Given the description of an element on the screen output the (x, y) to click on. 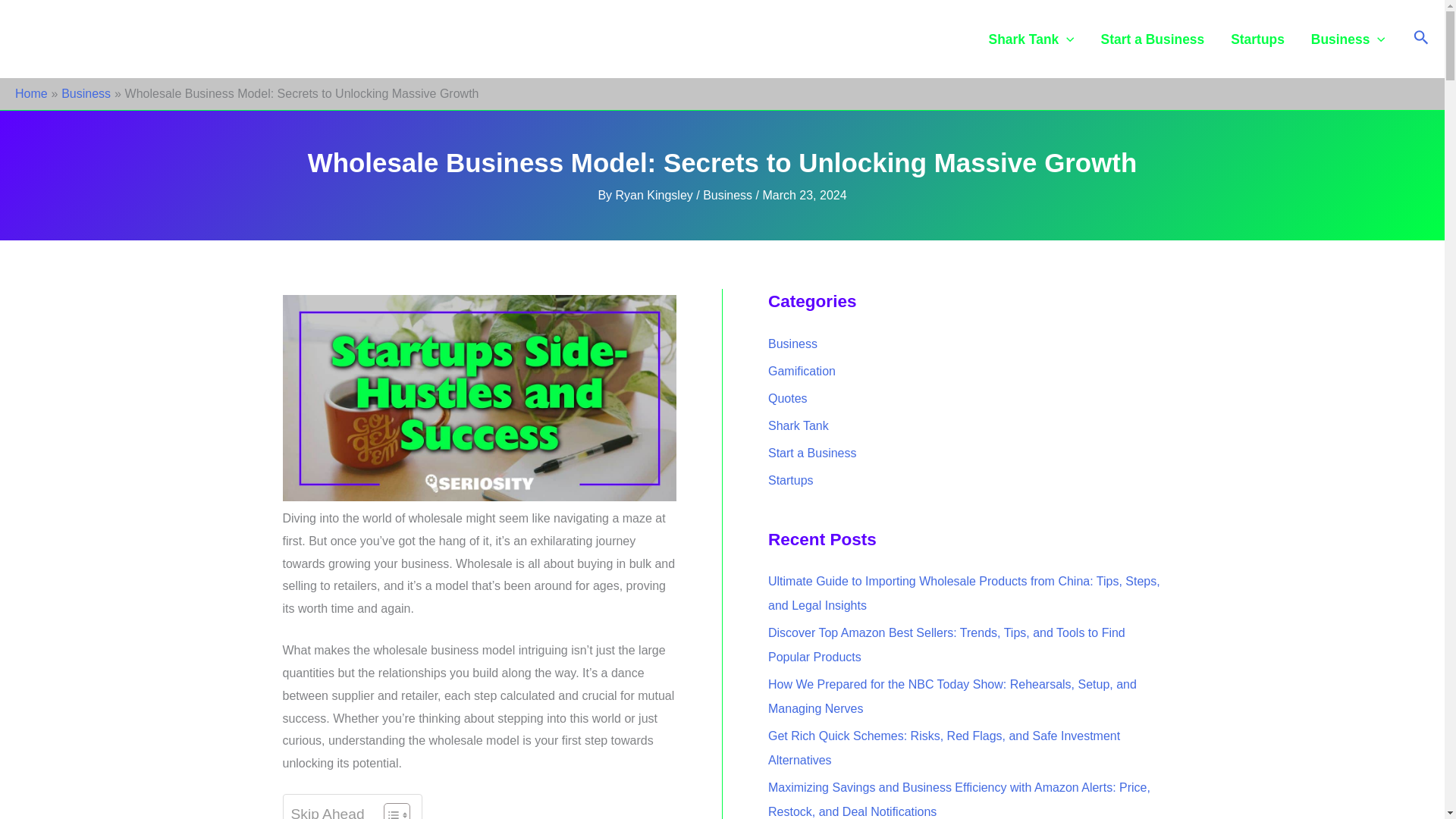
Ryan Kingsley (656, 195)
Business (1347, 38)
Business (727, 195)
Shark Tank (1031, 38)
Home (31, 92)
Startups (1257, 38)
View all posts by Ryan Kingsley (656, 195)
Start a Business (1152, 38)
Business (85, 92)
